Given the description of an element on the screen output the (x, y) to click on. 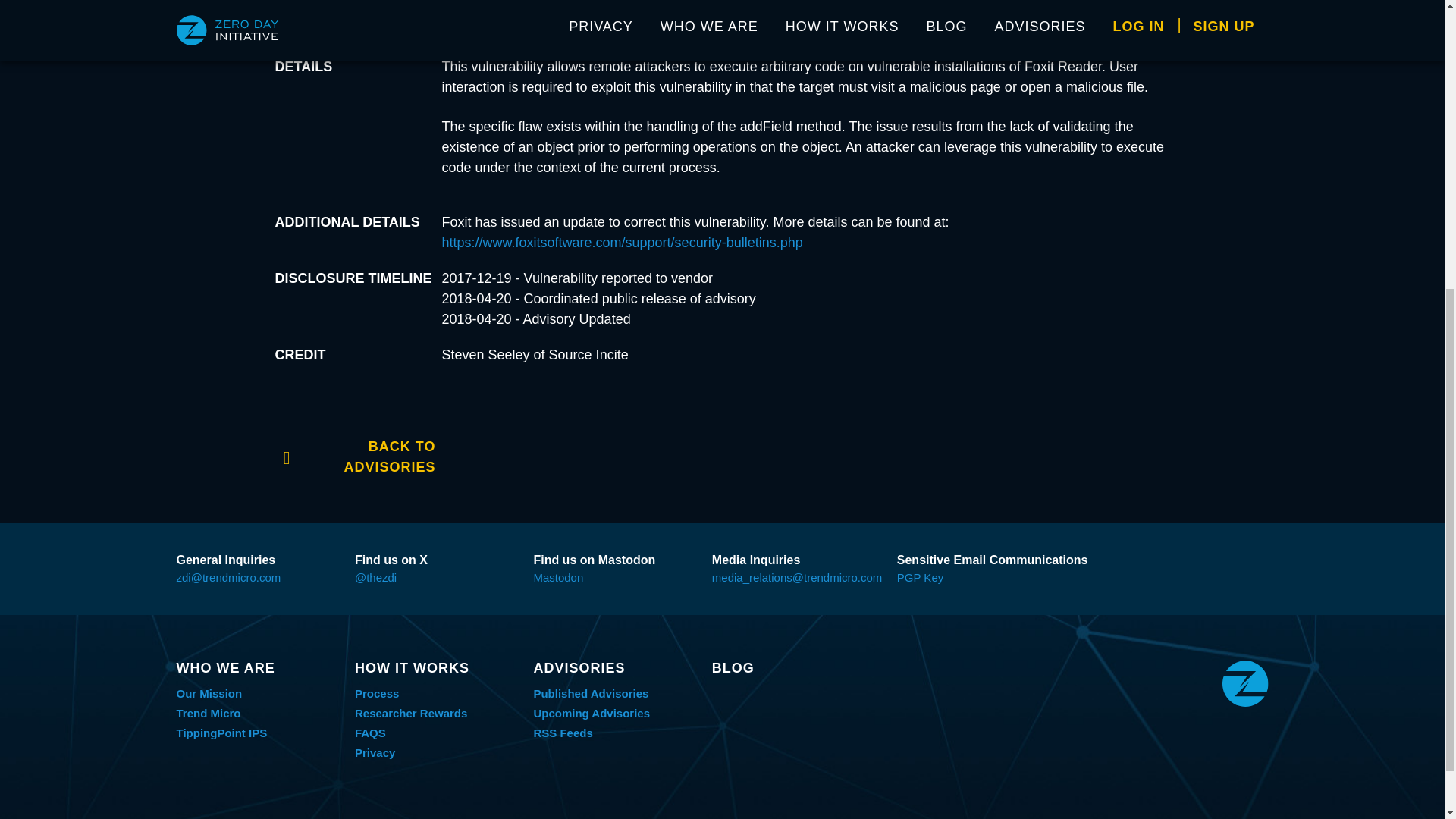
Upcoming Advisories (590, 712)
Trend Micro (208, 712)
FAQS (370, 732)
Mastodon (557, 576)
PGP Key (919, 576)
ADVISORIES (614, 668)
TippingPoint IPS (221, 732)
Our Mission (208, 693)
Published Advisories (589, 693)
Process (376, 693)
Researcher Rewards (411, 712)
WHO WE ARE (257, 668)
Privacy (374, 752)
BACK TO ADVISORIES (355, 455)
HOW IT WORKS (436, 668)
